Given the description of an element on the screen output the (x, y) to click on. 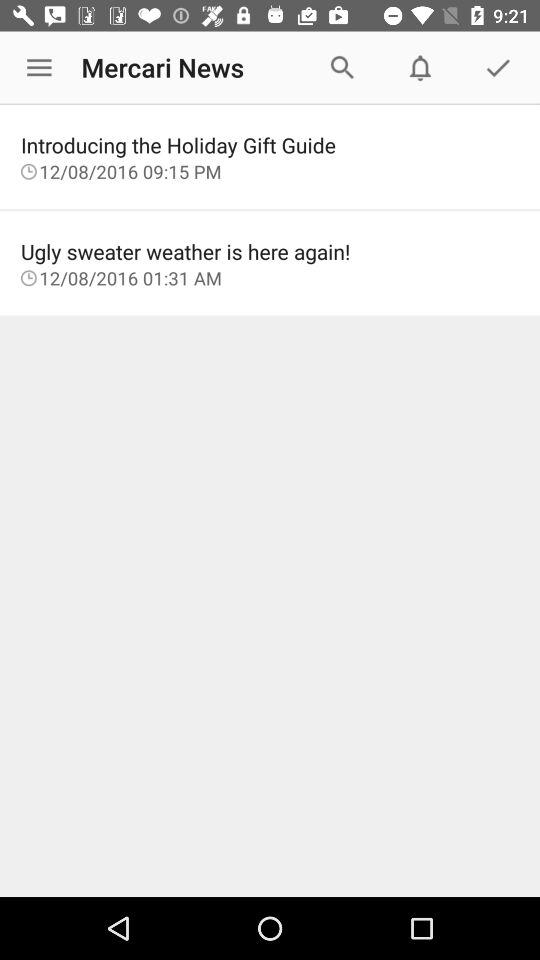
turn off icon above introducing the holiday icon (39, 67)
